Given the description of an element on the screen output the (x, y) to click on. 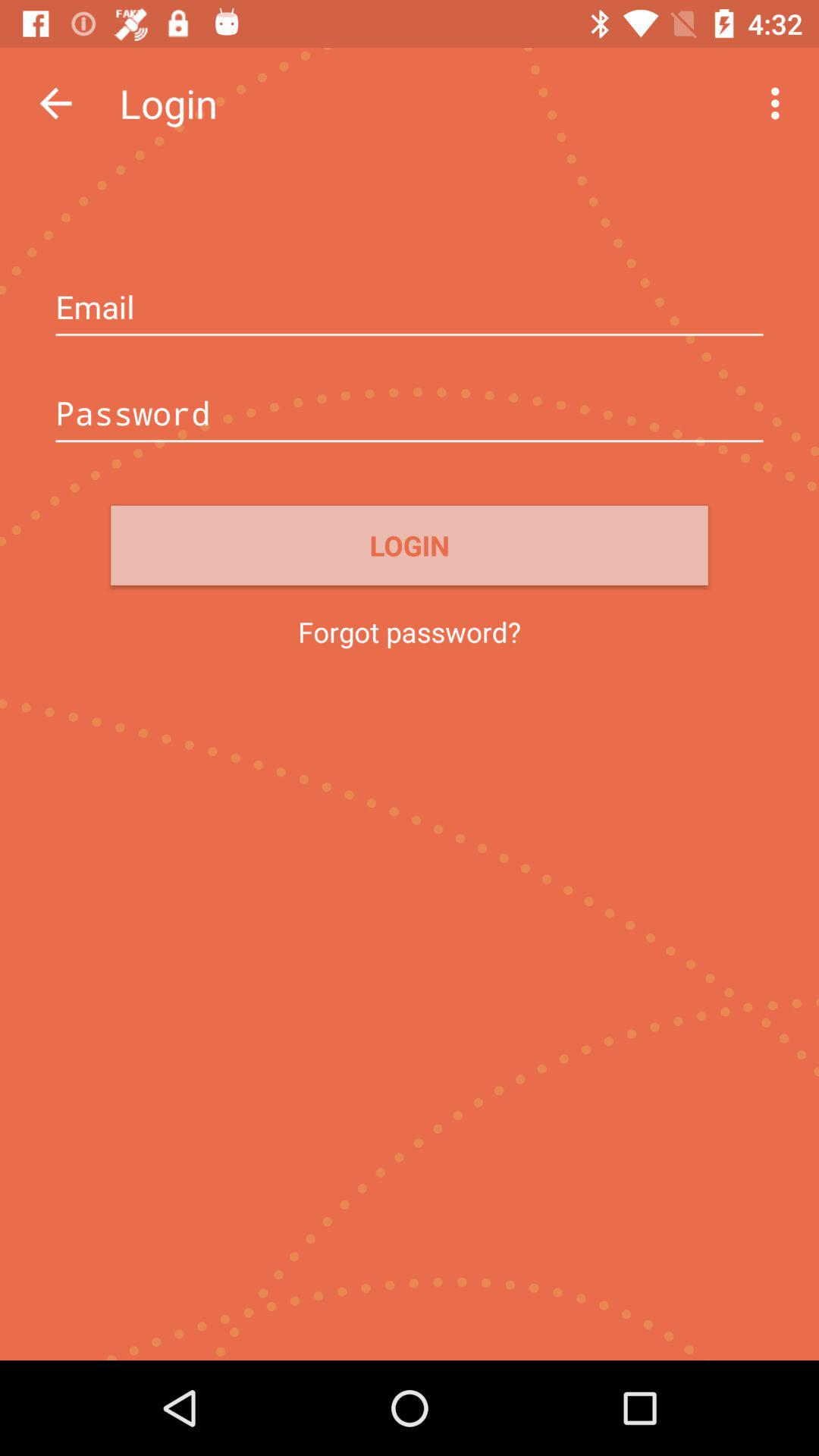
backword option (55, 103)
